Given the description of an element on the screen output the (x, y) to click on. 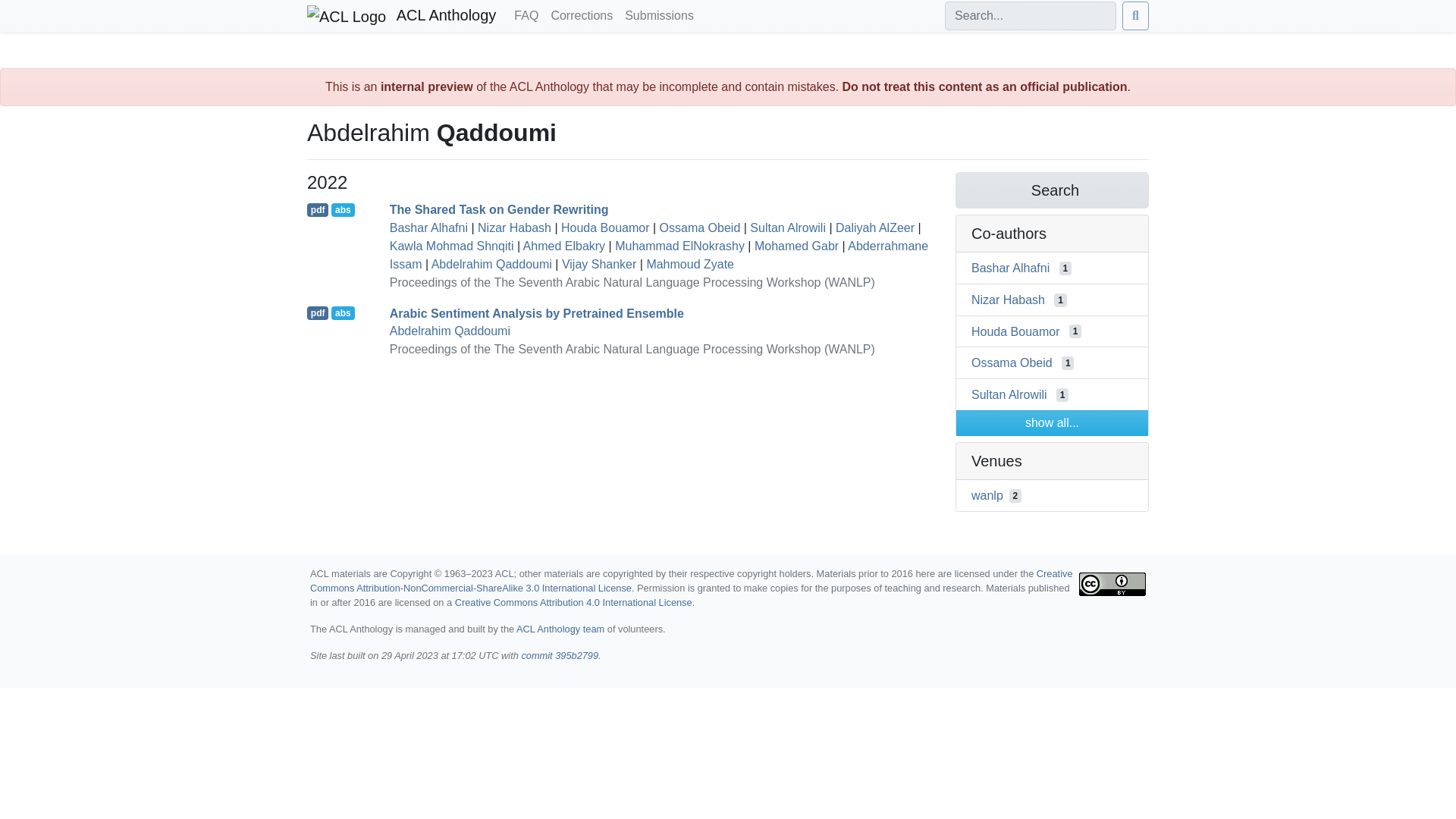
Mahmoud Zyate (689, 264)
pdf (318, 313)
Nizar Habash (514, 227)
Abdelrahim Qaddoumi (490, 264)
Open PDF (318, 210)
Sultan Alrowili (787, 227)
Arabic Sentiment Analysis by Pretrained Ensemble (537, 312)
Bashar Alhafni (1010, 267)
abs (342, 210)
Abderrahmane Issam (659, 255)
Kawla Mohmad Shnqiti (451, 245)
Show Abstract (342, 210)
Bashar Alhafni (428, 227)
Daliyah AlZeer (874, 227)
Ossama Obeid (700, 227)
